Given the description of an element on the screen output the (x, y) to click on. 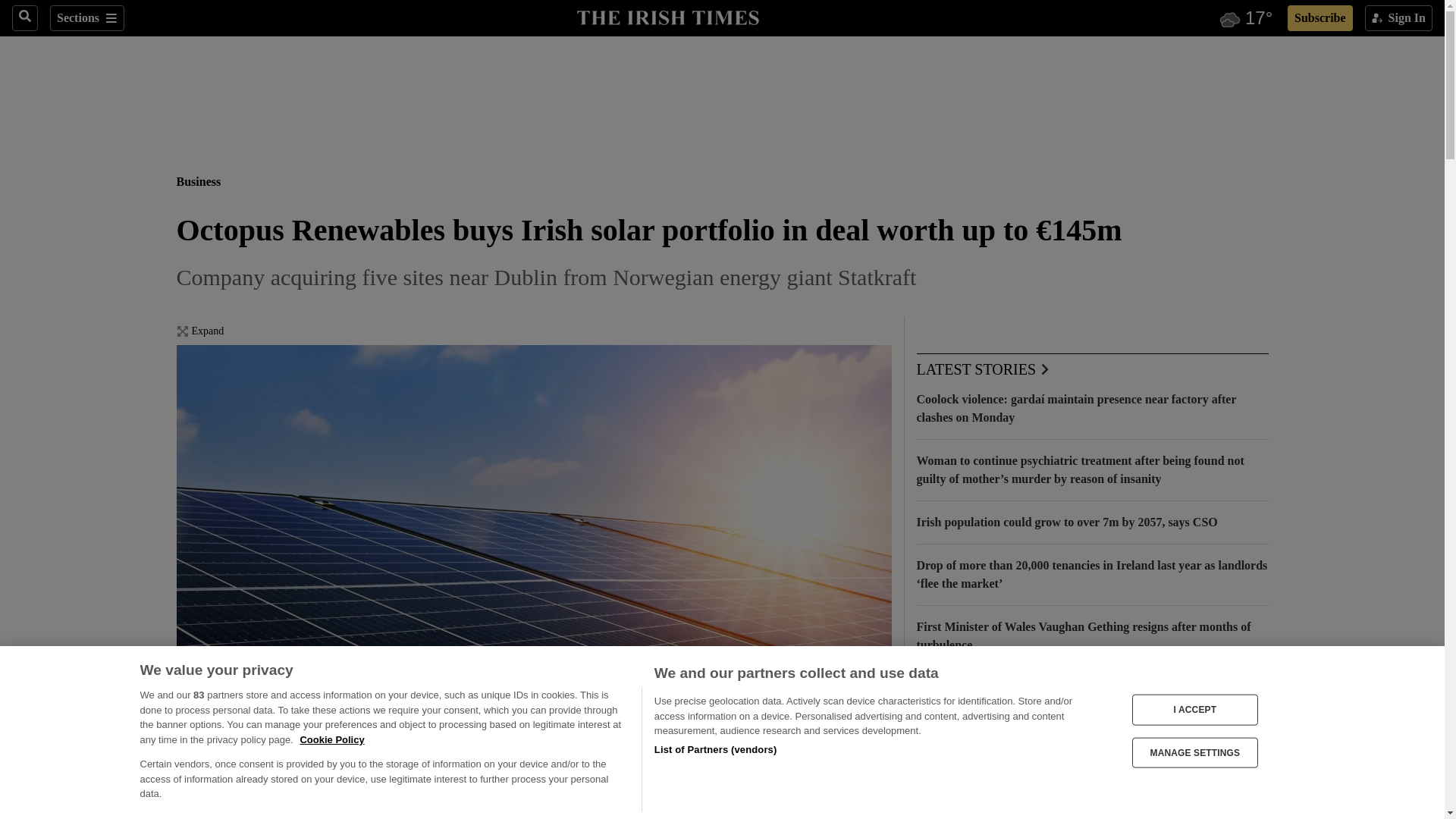
The Irish Times (667, 16)
Subscribe (1319, 17)
Sections (86, 17)
Sign In (1398, 17)
